Given the description of an element on the screen output the (x, y) to click on. 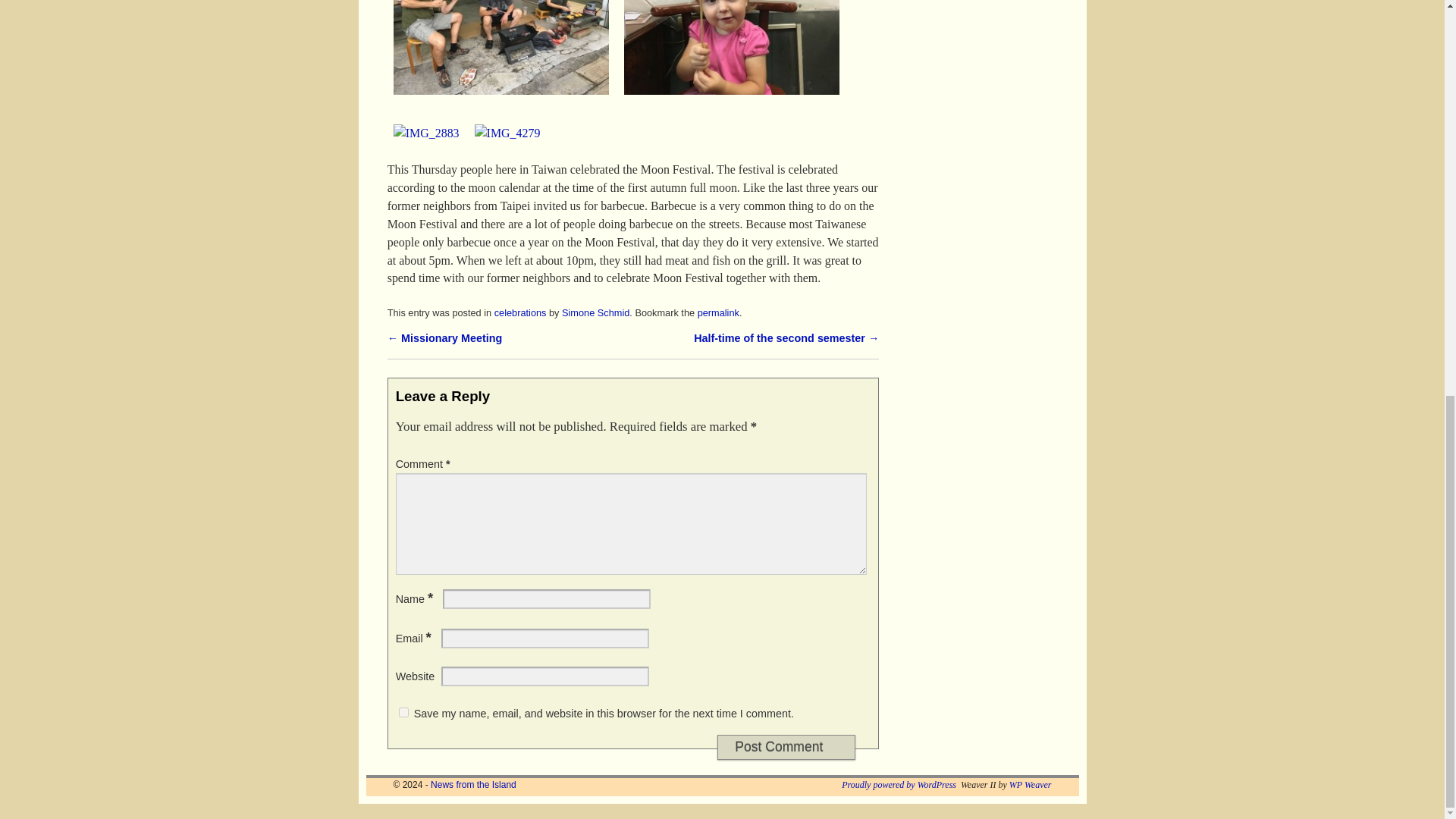
celebrations (521, 408)
yes (403, 808)
permalink (718, 408)
Permalink to Moon Festival (718, 408)
Simone Schmid (595, 408)
